Given the description of an element on the screen output the (x, y) to click on. 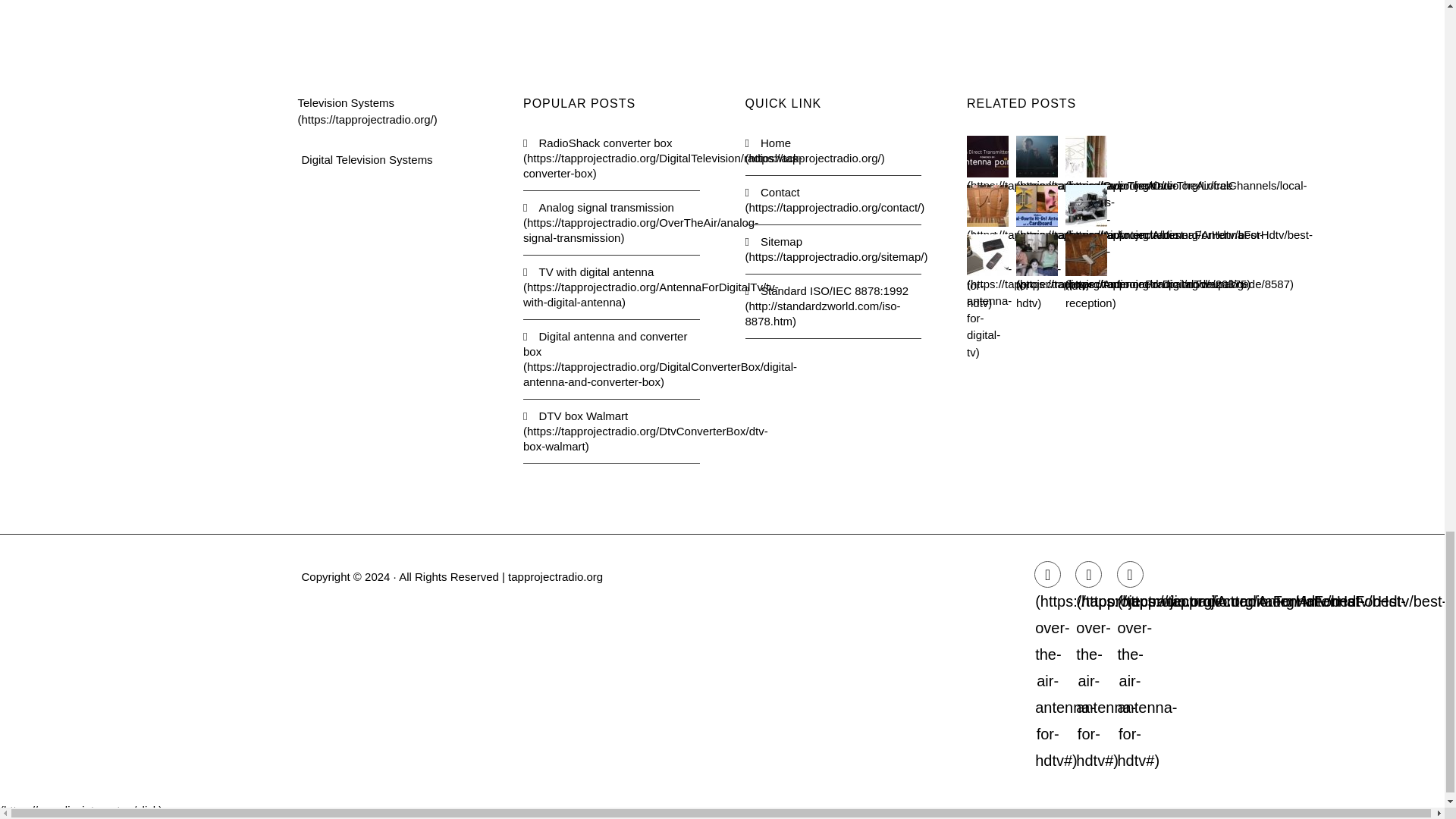
Indoor TV antenna for local channels (1037, 255)
Best Indoor antenna for HDTV (1037, 205)
Analog antenna for digital TV (987, 255)
Best antenna for HDTV reception (1085, 205)
Digital antenna and converter box (611, 359)
TV with digital antenna (611, 287)
RadioShack converter box (611, 157)
Analog signal transmission (611, 222)
Best off air antenna for HDTV (987, 205)
Free TV Over the air (1037, 156)
DTV box Walmart (611, 431)
Local channels antenna for HDTV (1085, 156)
TV over the air signal map (987, 156)
